Given the description of an element on the screen output the (x, y) to click on. 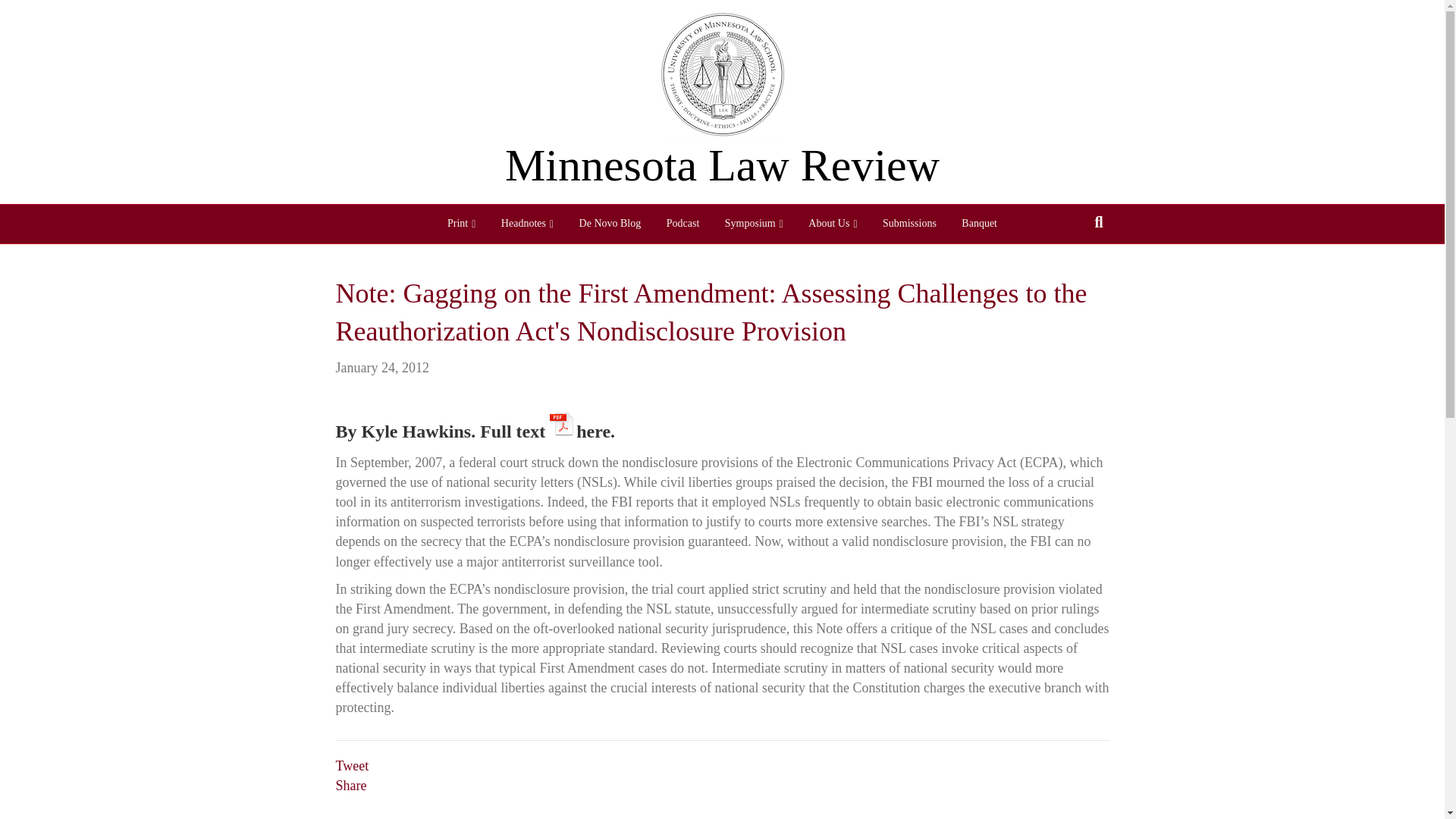
Print (460, 223)
Tweet (351, 765)
Share (350, 785)
De Novo Blog (609, 223)
Headnotes (526, 223)
Podcast (683, 223)
Submissions (908, 223)
Banquet (979, 223)
Symposium (753, 223)
Minnesota Law Review (722, 165)
here (580, 423)
About Us (831, 223)
